Given the description of an element on the screen output the (x, y) to click on. 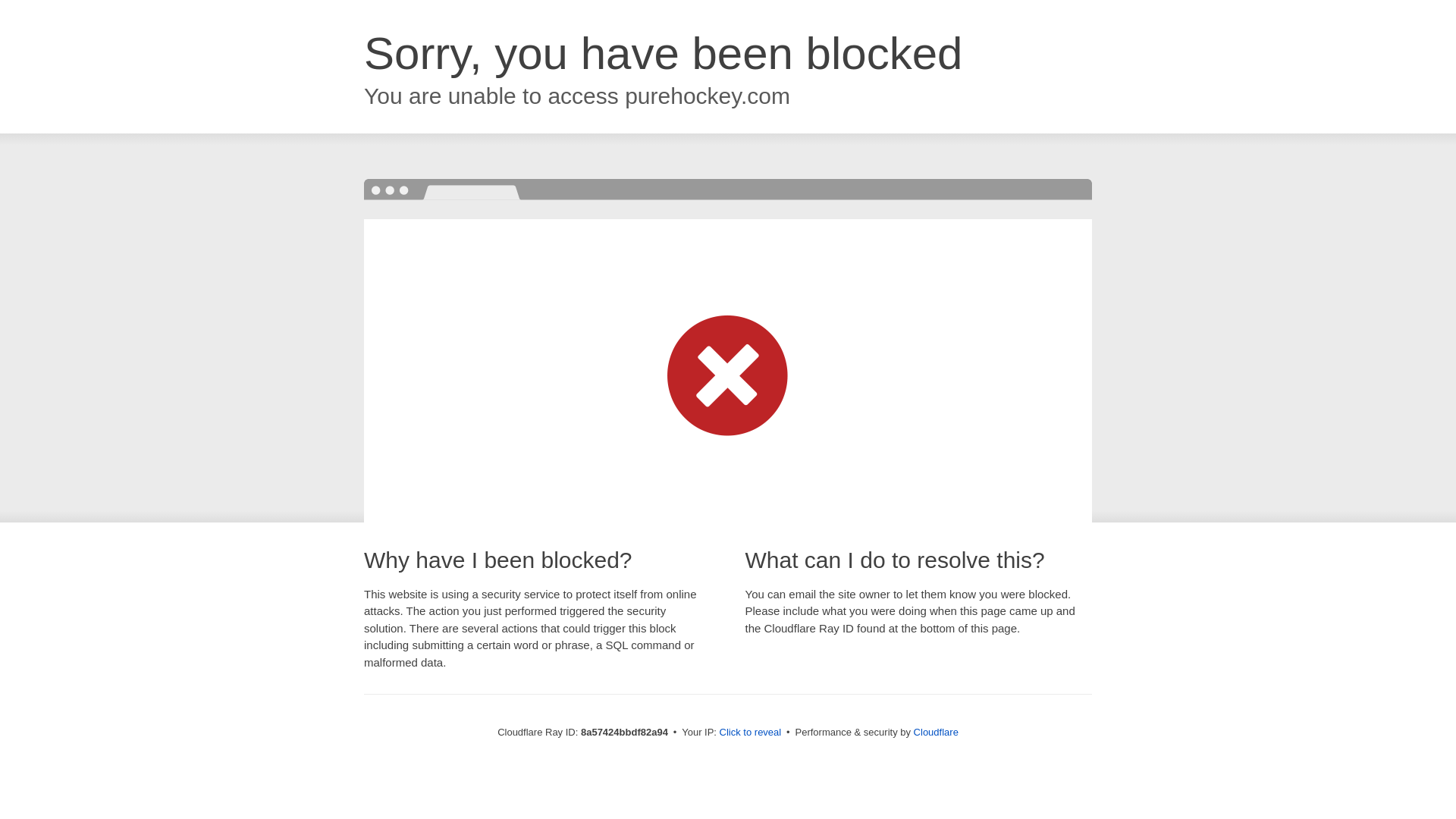
Click to reveal (750, 732)
Cloudflare (936, 731)
